Given the description of an element on the screen output the (x, y) to click on. 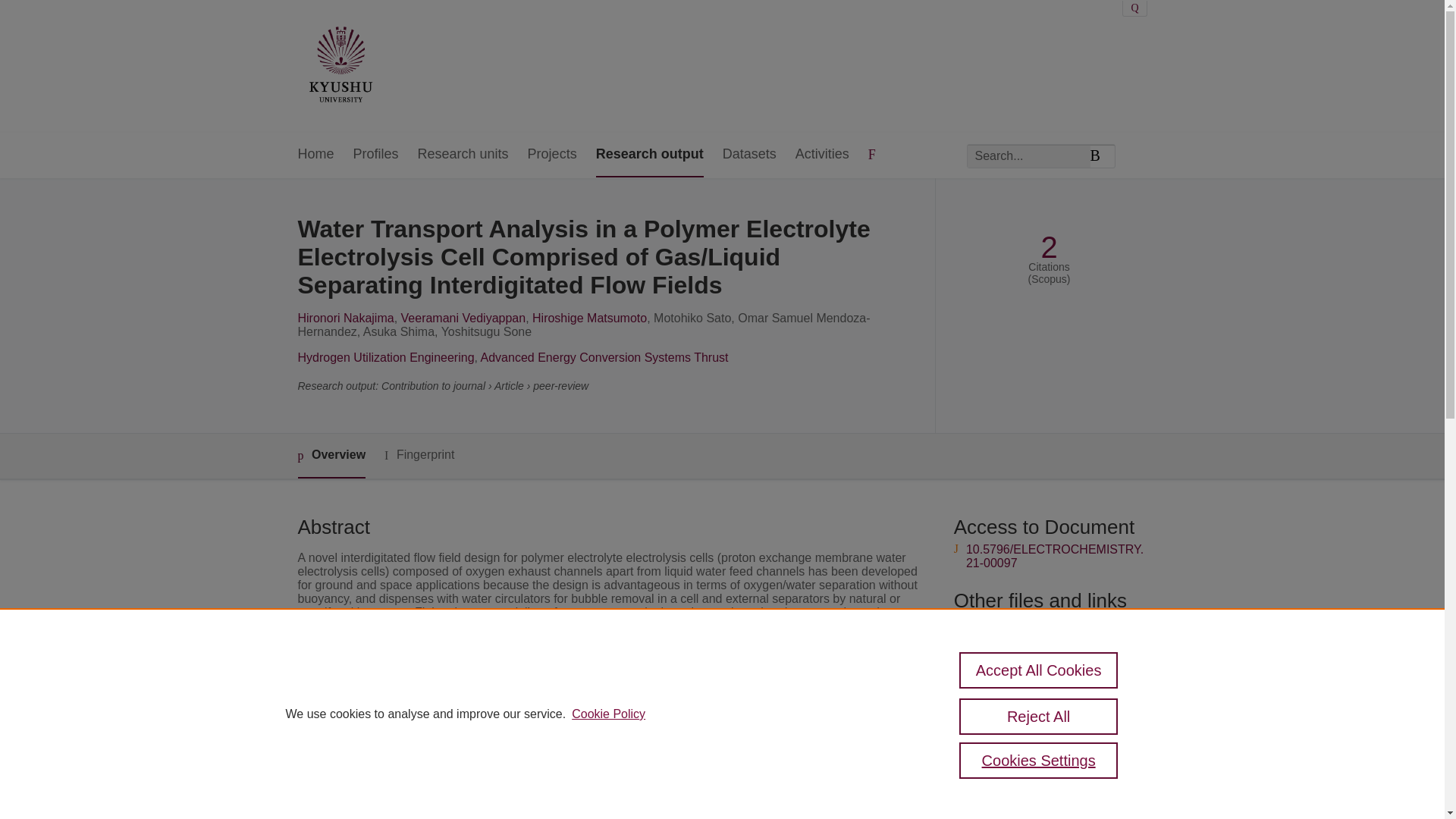
Research output (649, 154)
Veeramani Vediyappan (463, 318)
Fingerprint (419, 455)
Datasets (749, 154)
Research units (462, 154)
Link to publication in Scopus (1045, 622)
Hiroshige Matsumoto (589, 318)
Hironori Nakajima (345, 318)
Activities (821, 154)
Hydrogen Utilization Engineering (385, 357)
Electrochemistry (555, 794)
Link to the citations in Scopus (1048, 647)
Projects (551, 154)
Overview (331, 456)
